Given the description of an element on the screen output the (x, y) to click on. 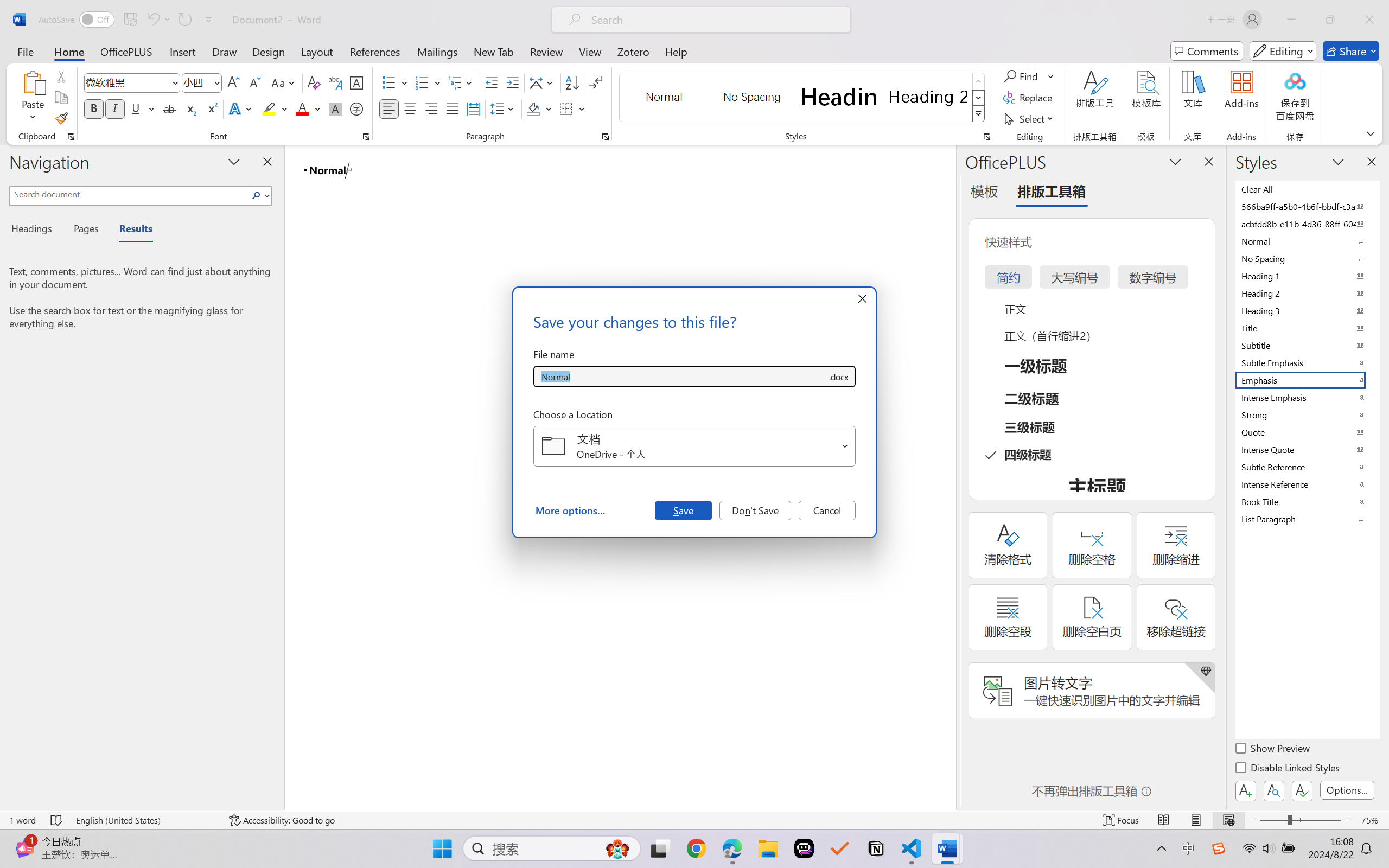
Decrease Indent (491, 82)
Underline (142, 108)
File Tab (24, 51)
OfficePLUS (126, 51)
Microsoft search (715, 19)
Don't Save (755, 509)
Clear Formatting (313, 82)
Shading (539, 108)
Home (69, 51)
Heading 2 (927, 96)
Align Left (388, 108)
Increase Indent (512, 82)
Search (259, 195)
